Given the description of an element on the screen output the (x, y) to click on. 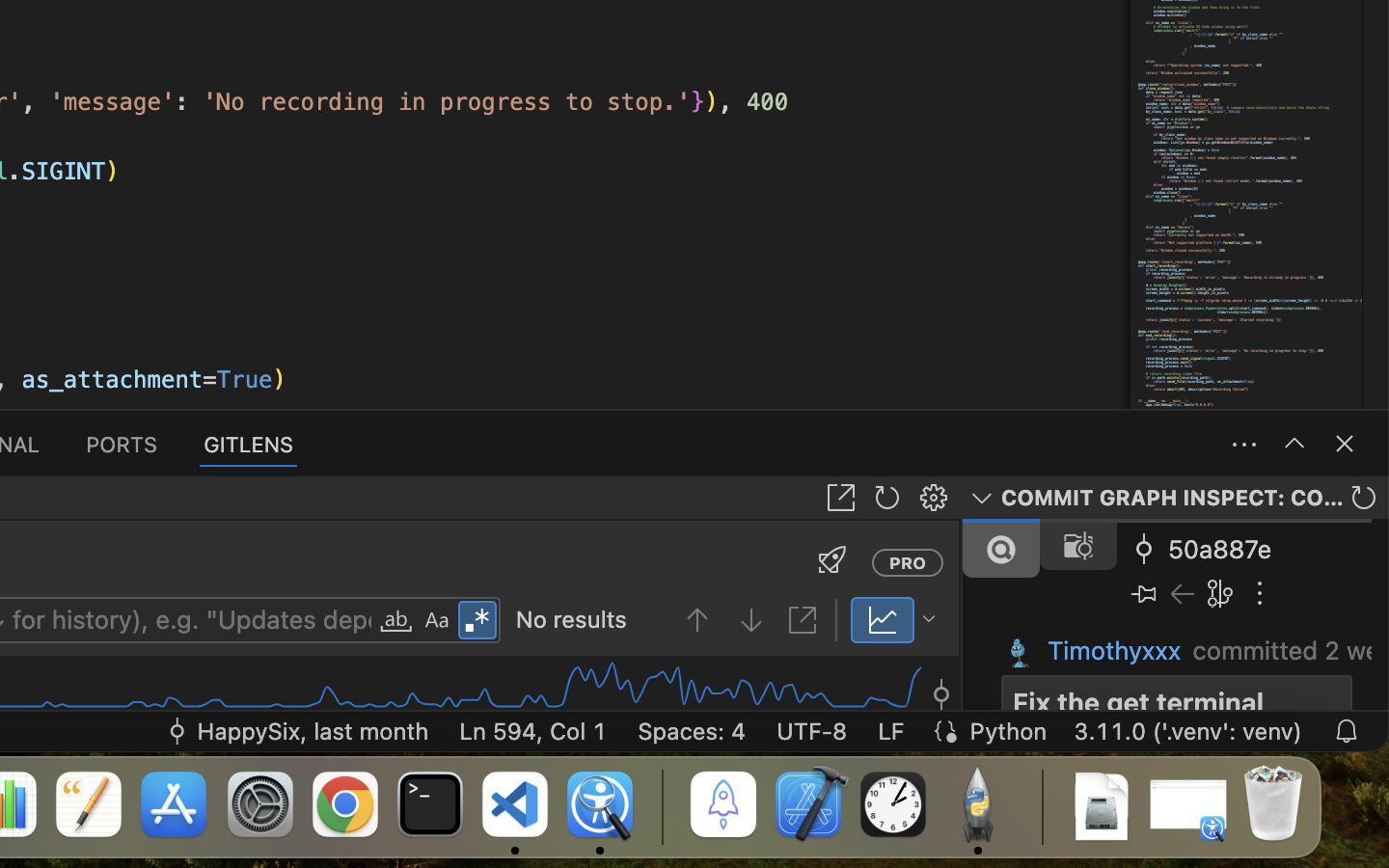
Pro Element type: AXGroup (907, 561)
0.4285714328289032 Element type: AXDockItem (660, 805)
 Element type: AXStaticText (933, 497)
 Element type: AXCheckBox (477, 620)
 Element type: AXCheckBox (436, 620)
